Given the description of an element on the screen output the (x, y) to click on. 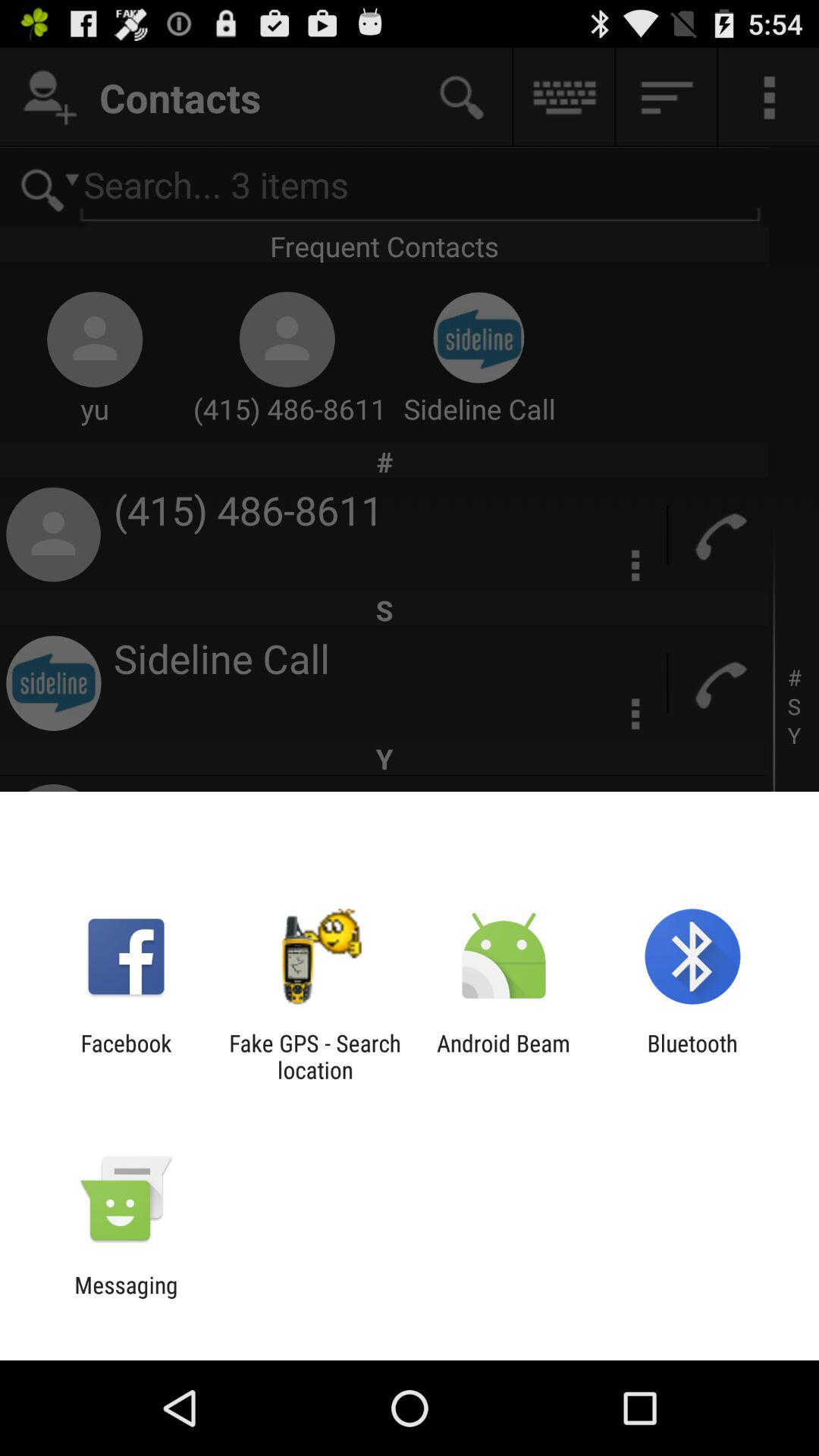
launch the icon next to the bluetooth icon (503, 1056)
